Given the description of an element on the screen output the (x, y) to click on. 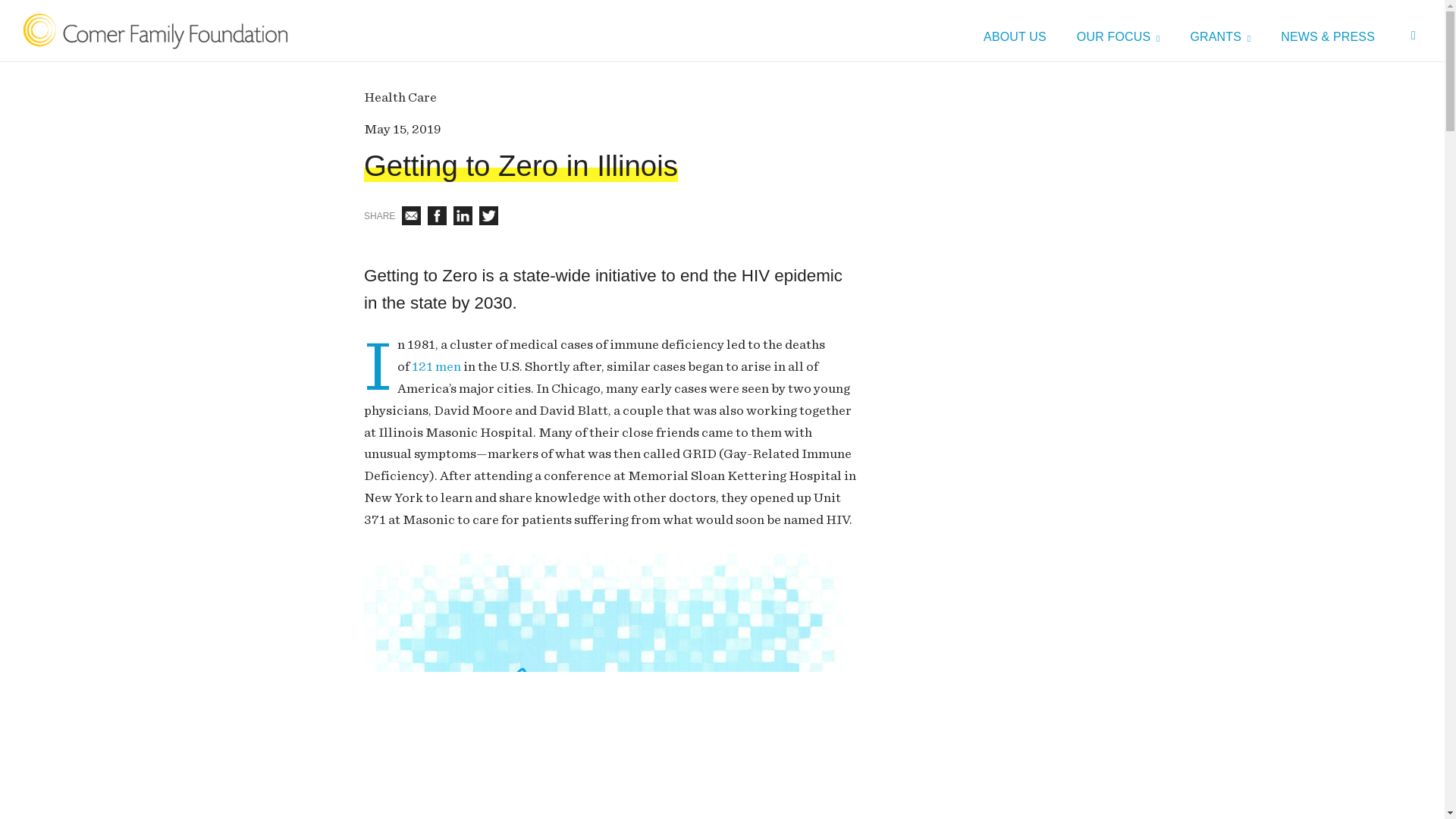
121 men (436, 366)
ABOUT US (1015, 38)
GRANTS (1219, 38)
OUR FOCUS (1118, 38)
